Given the description of an element on the screen output the (x, y) to click on. 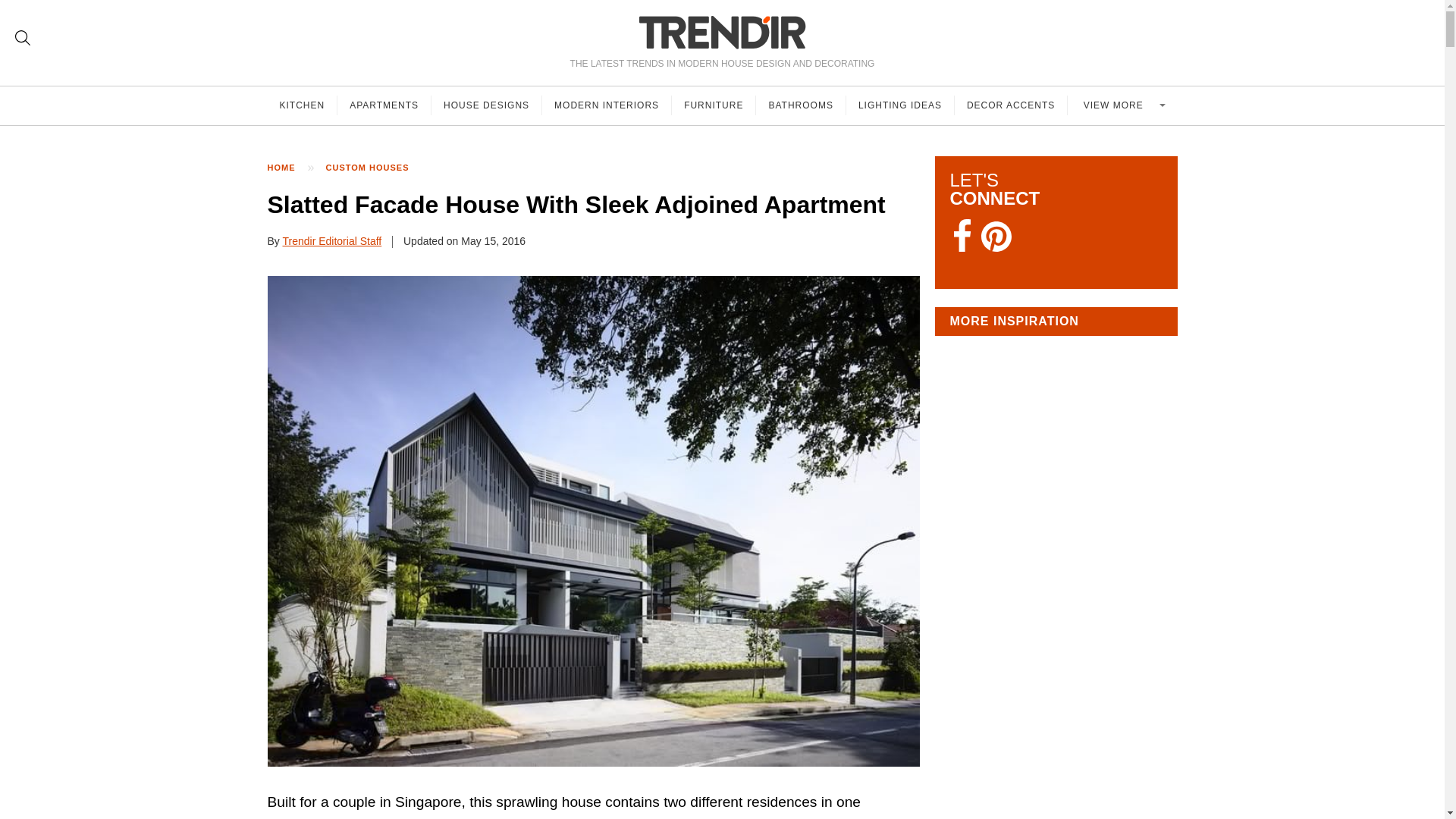
KITCHEN (301, 105)
CUSTOM HOUSES (375, 167)
TRENDIR (722, 32)
Search (22, 37)
FURNITURE (713, 105)
APARTMENTS (383, 105)
Trendir Editorial Staff (331, 241)
Trendir Pinterest (995, 237)
Trendir Editorial Staff (331, 241)
DECOR ACCENTS (1011, 105)
